Given the description of an element on the screen output the (x, y) to click on. 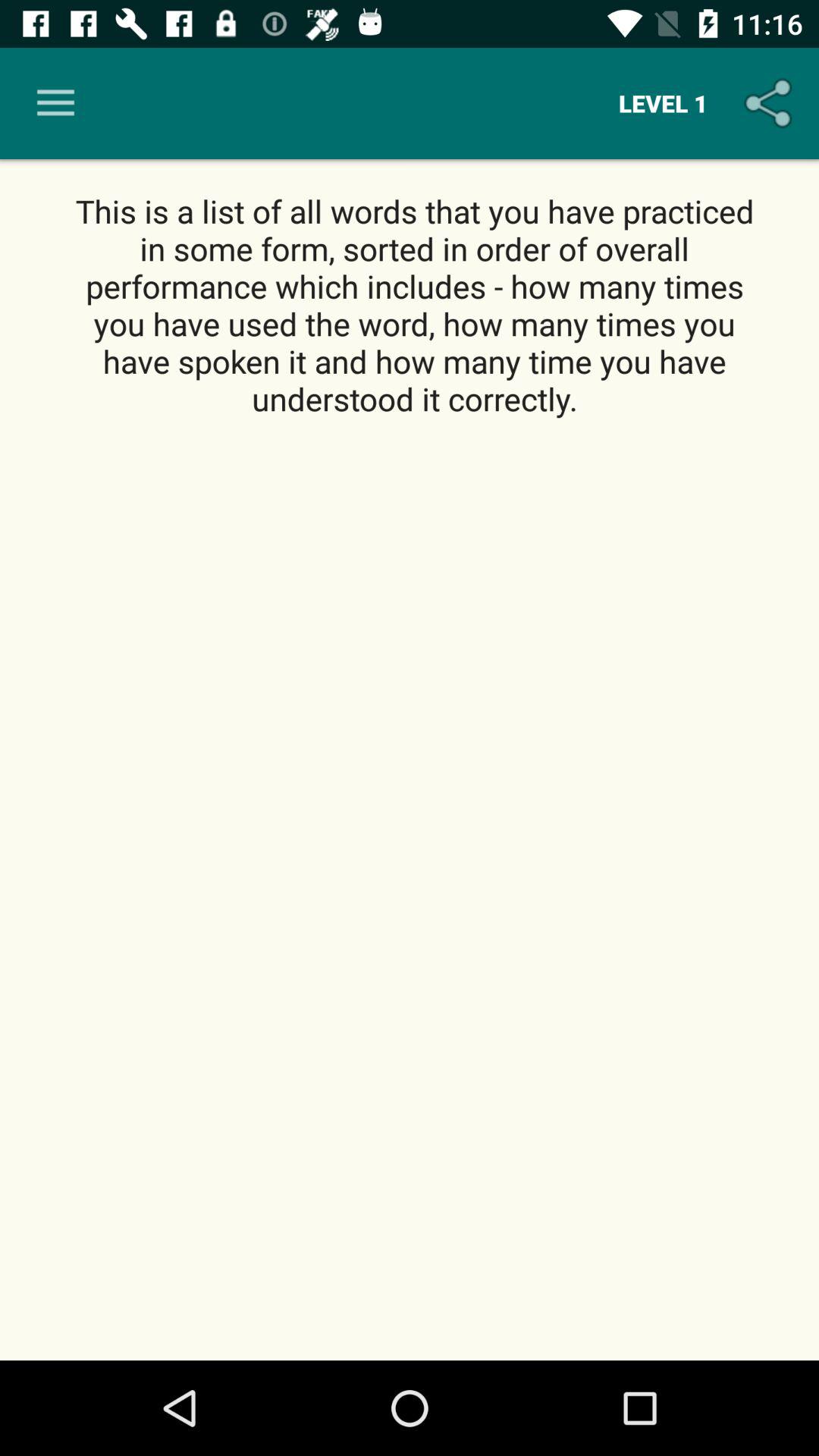
choose the icon at the center (409, 889)
